Given the description of an element on the screen output the (x, y) to click on. 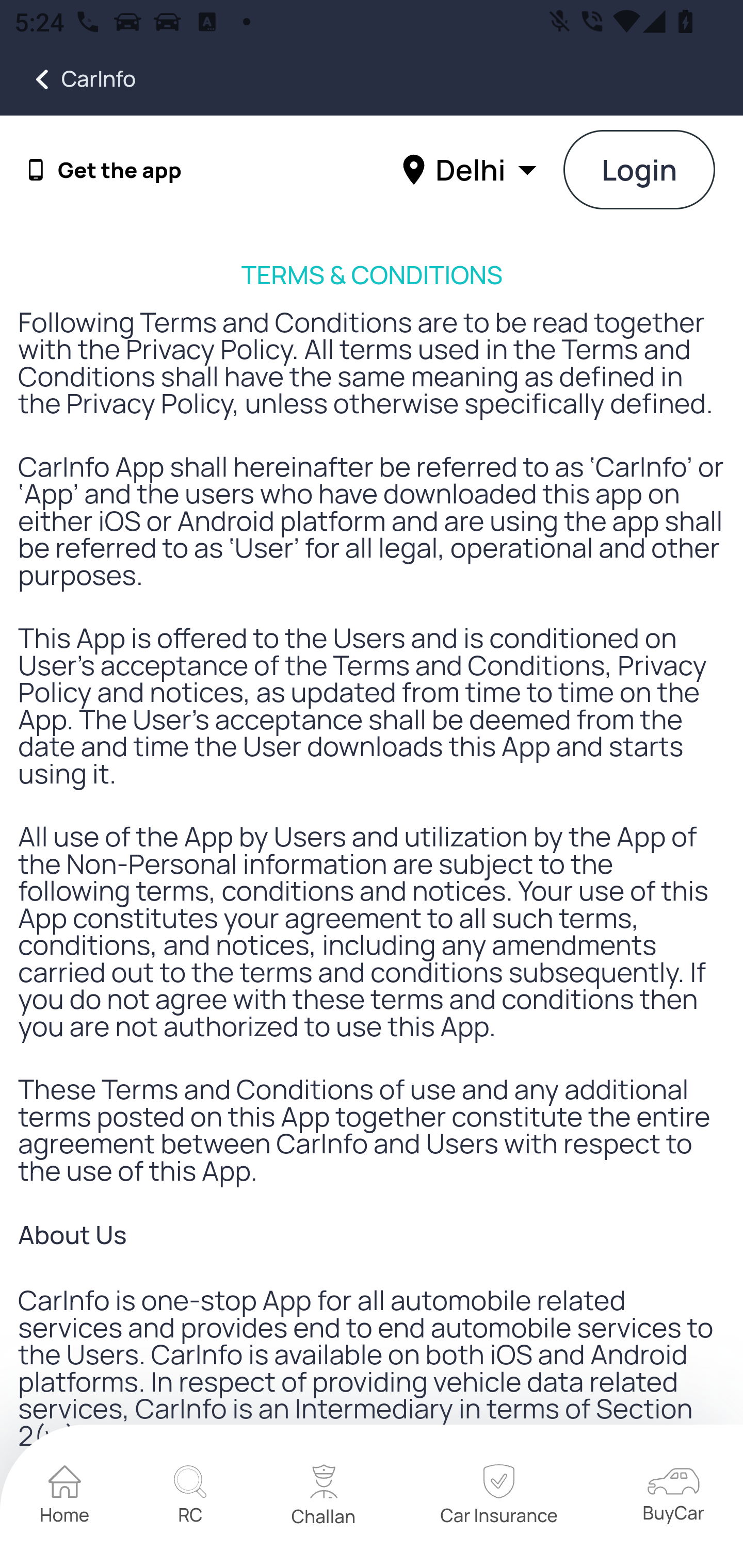
CarInfo (67, 79)
Login (639, 170)
Delhi (471, 169)
Get the app (119, 170)
home Challan home Challan (323, 1496)
home Home home Home (64, 1496)
home RC home RC (190, 1496)
home Car Insurance home Car Insurance (497, 1497)
home BuyCar home BuyCar (672, 1496)
